Given the description of an element on the screen output the (x, y) to click on. 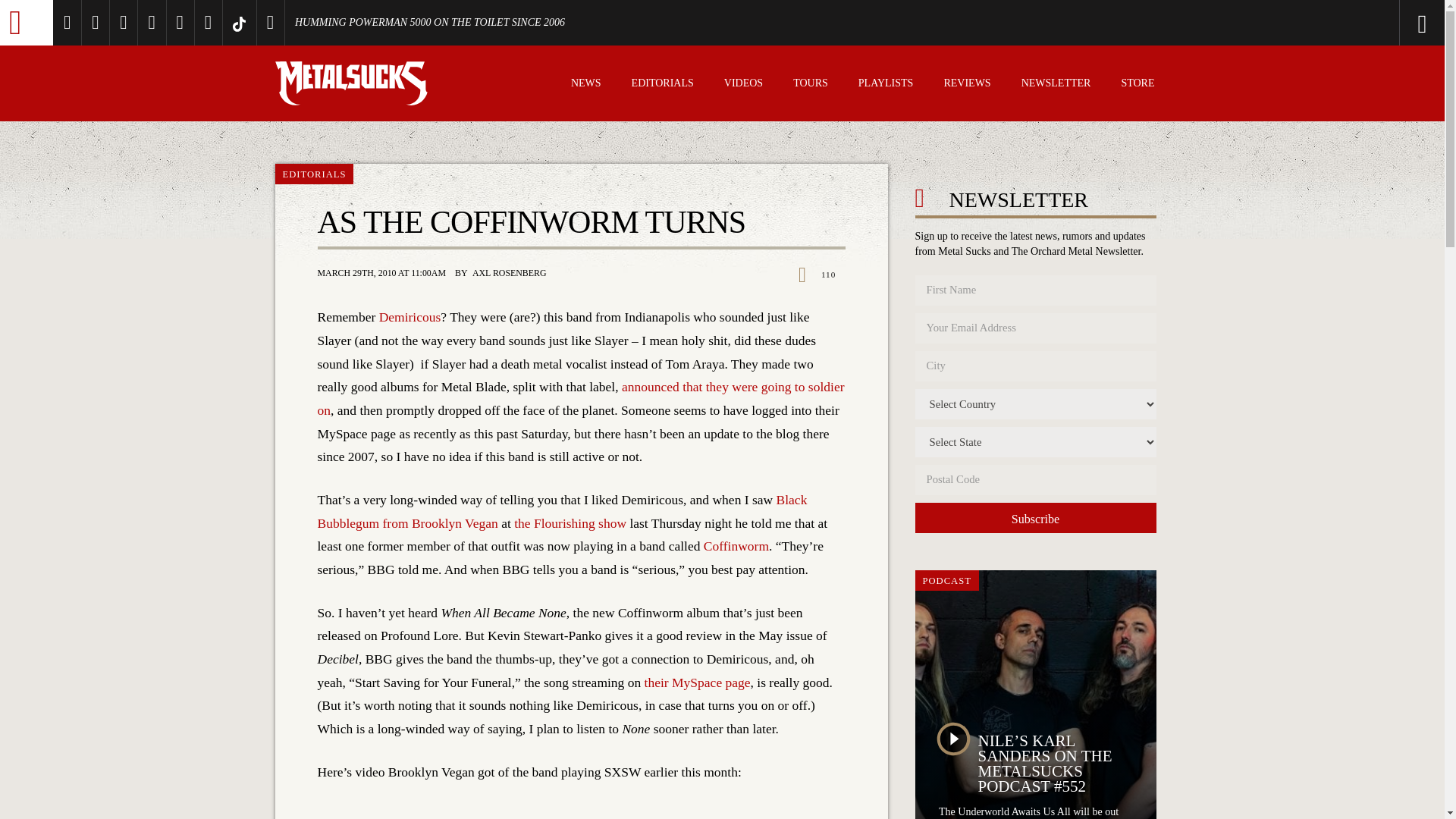
STORE (1137, 84)
EDITORIALS (662, 84)
TOURS (810, 84)
PLAYLISTS (886, 84)
NEWS (585, 84)
REVIEWS (966, 84)
VIDEOS (742, 84)
Subscribe (1035, 517)
Search (1361, 22)
NEWSLETTER (1056, 84)
